Given the description of an element on the screen output the (x, y) to click on. 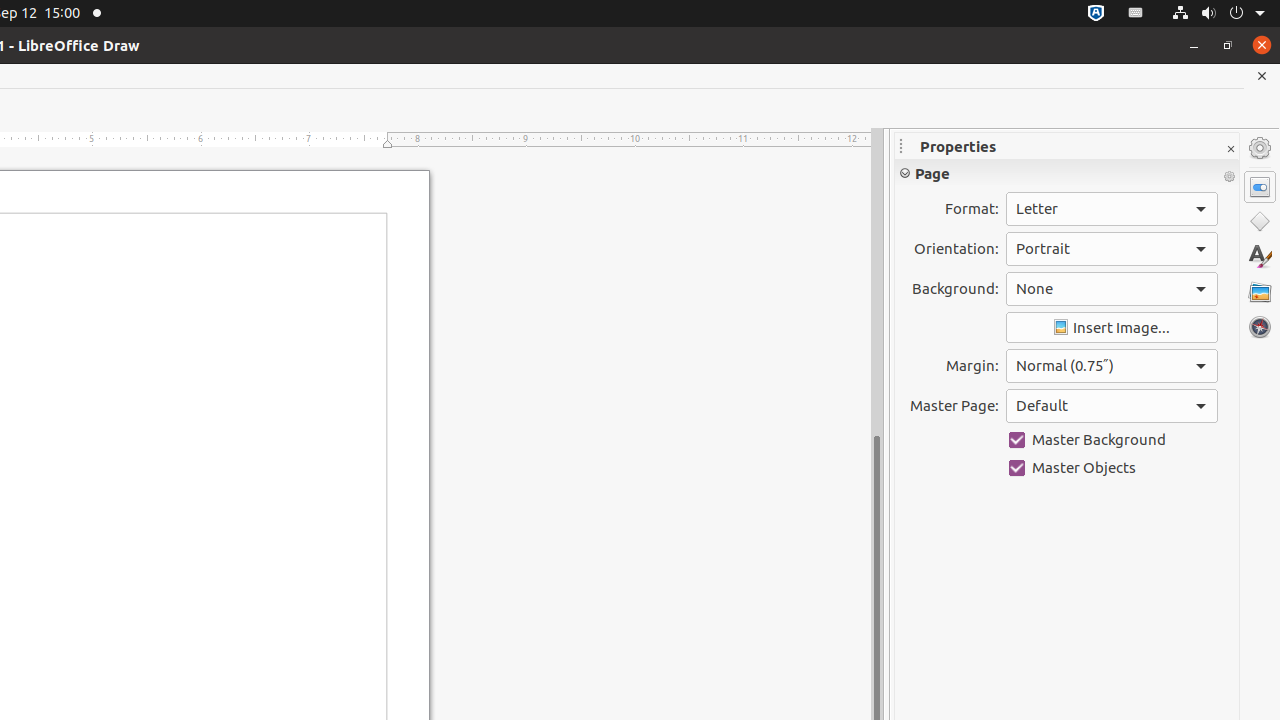
Navigator Element type: radio-button (1260, 327)
Background: Element type: combo-box (1112, 289)
System Element type: menu (1218, 13)
Master Background Element type: check-box (1112, 440)
More Options Element type: push-button (1229, 177)
